Given the description of an element on the screen output the (x, y) to click on. 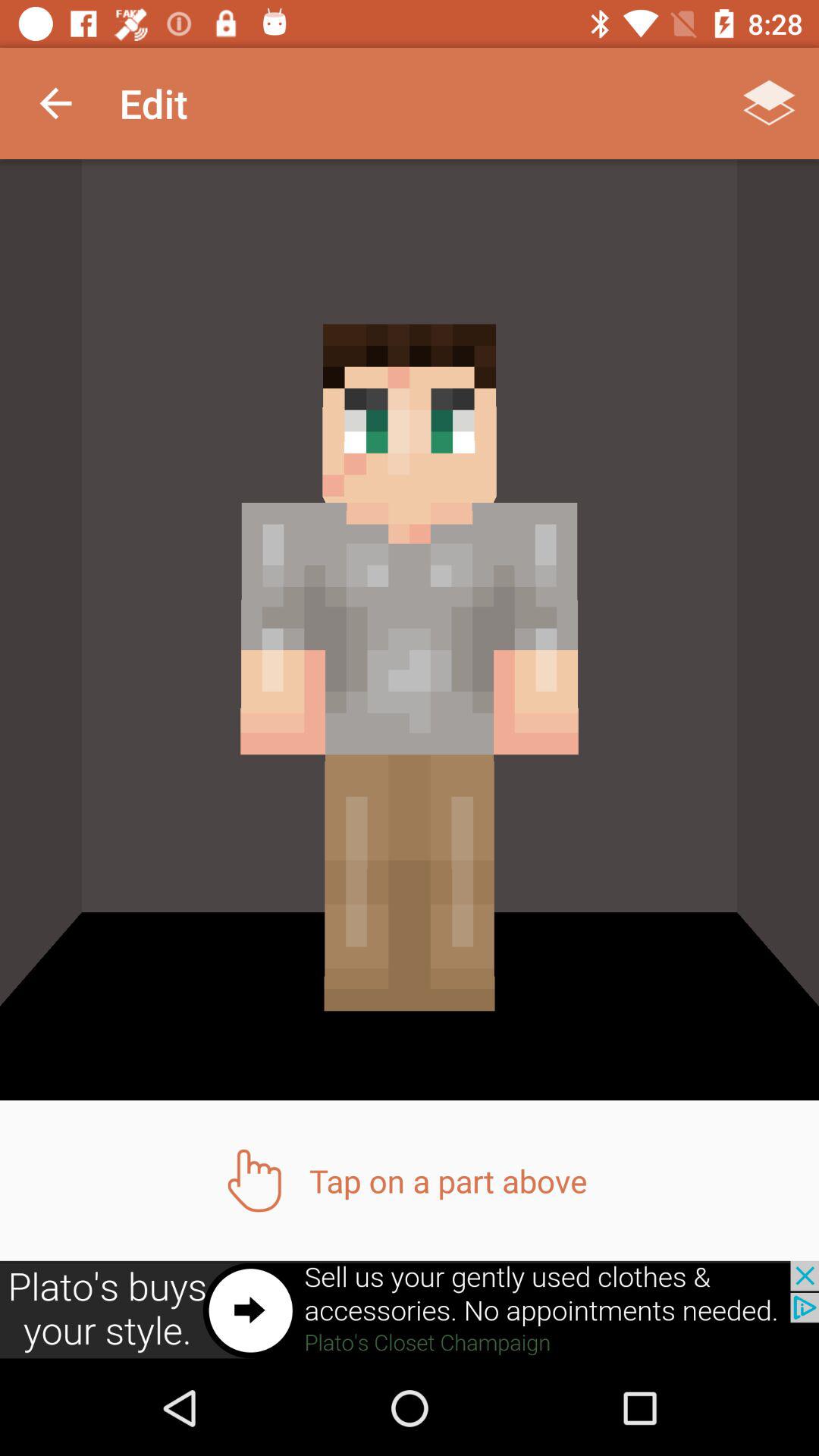
screen page (409, 1310)
